Given the description of an element on the screen output the (x, y) to click on. 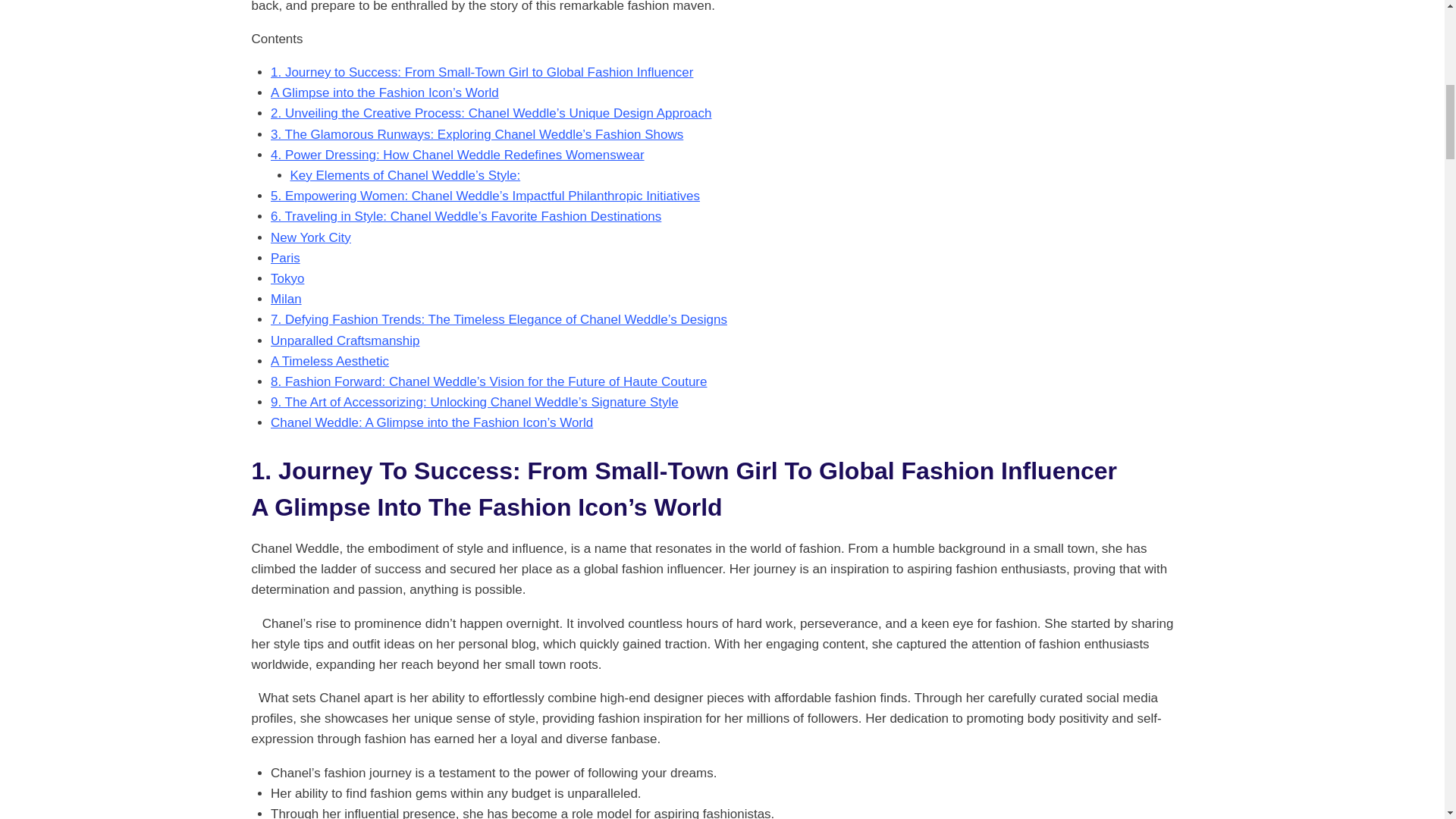
A Timeless Aesthetic (329, 360)
Paris (284, 257)
Milan (285, 298)
Tokyo (287, 278)
Unparalled Craftsmanship (345, 340)
New York City (310, 237)
